Given the description of an element on the screen output the (x, y) to click on. 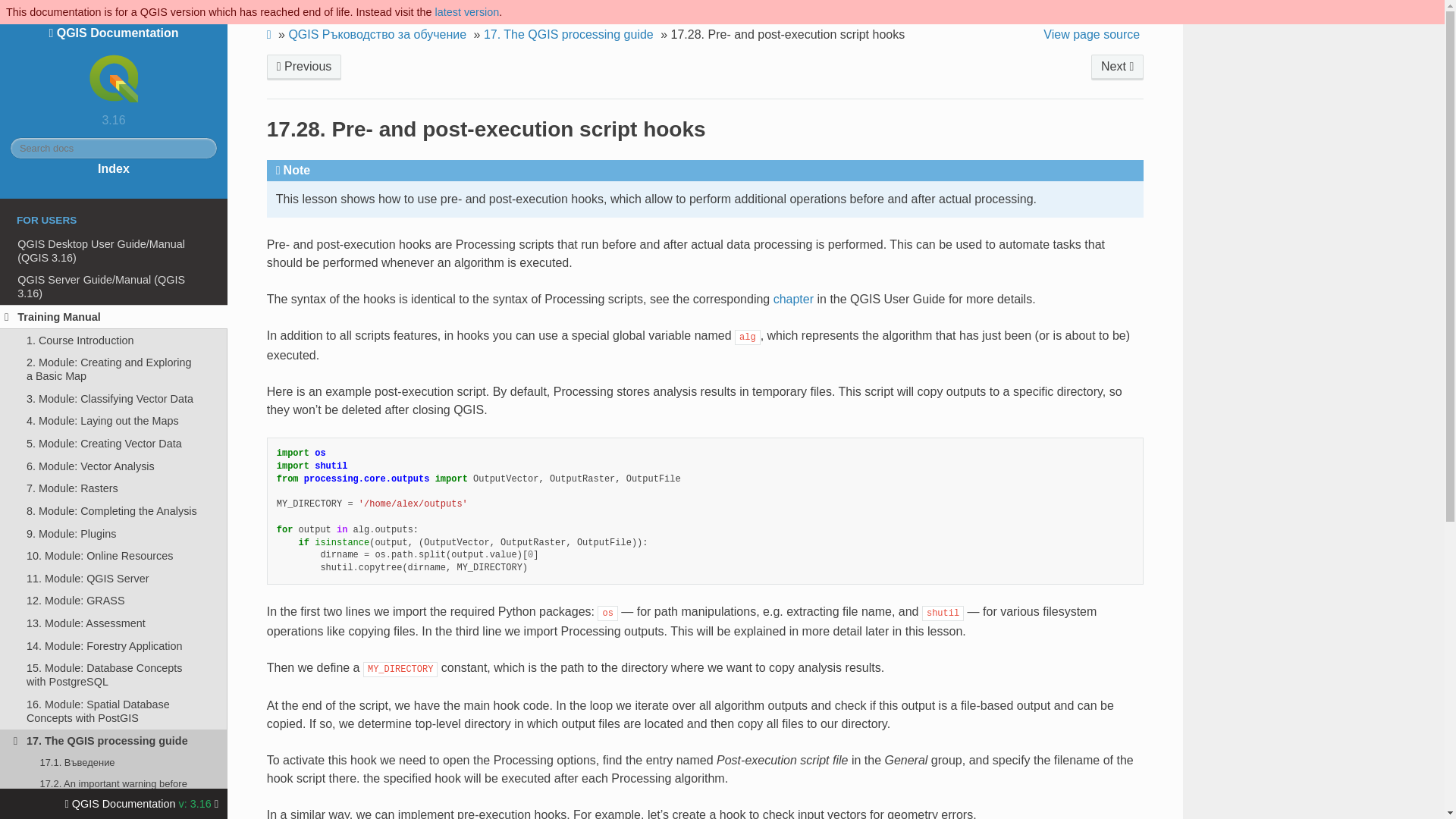
1. Course Introduction (113, 340)
4. Module: Laying out the Maps (113, 421)
QGIS Documentation (113, 66)
7. Module: Rasters (113, 487)
16. Module: Spatial Database Concepts with PostGIS (113, 710)
5. Module: Creating Vector Data (113, 443)
8. Module: Completing the Analysis (113, 510)
3. Module: Classifying Vector Data (113, 398)
6. Module: Vector Analysis (113, 466)
2. Module: Creating and Exploring a Basic Map (113, 369)
14. Module: Forestry Application (113, 645)
12. Module: GRASS (113, 600)
17.2. An important warning before starting (113, 790)
13. Module: Assessment (113, 622)
15. Module: Database Concepts with PostgreSQL (113, 674)
